Given the description of an element on the screen output the (x, y) to click on. 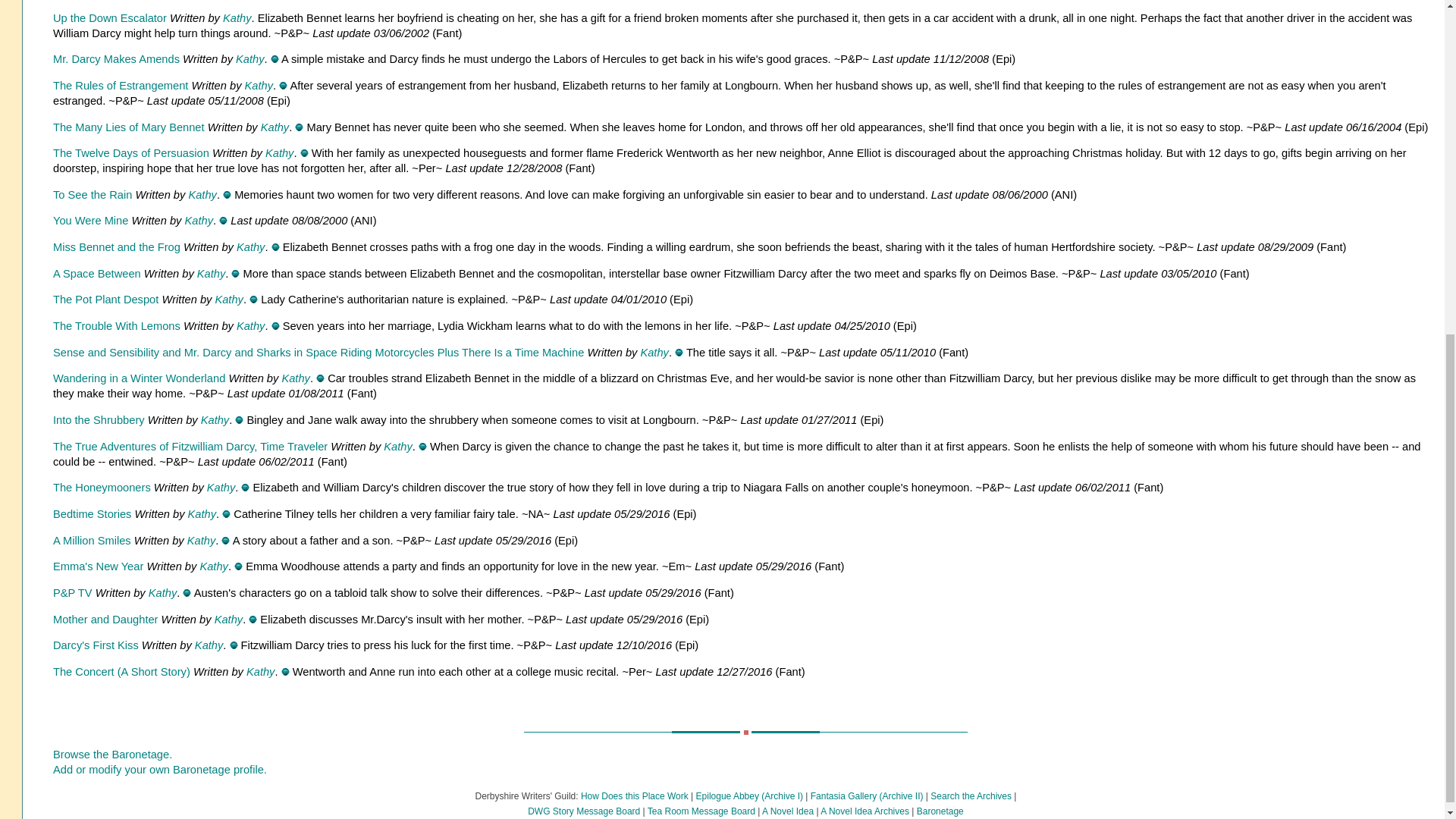
Kathy (198, 220)
Kathy (249, 246)
The Many Lies of Mary Bennet (128, 127)
Kathy (274, 127)
Kathy (201, 194)
Kathy (258, 85)
Kathy (228, 299)
Wandering in a Winter Wonderland (138, 378)
To See the Rain (92, 194)
Miss Bennet and the Frog (116, 246)
Up the Down Escalator (109, 18)
The Rules of Estrangement (119, 85)
The Trouble With Lemons (117, 326)
Kathy (279, 152)
